Given the description of an element on the screen output the (x, y) to click on. 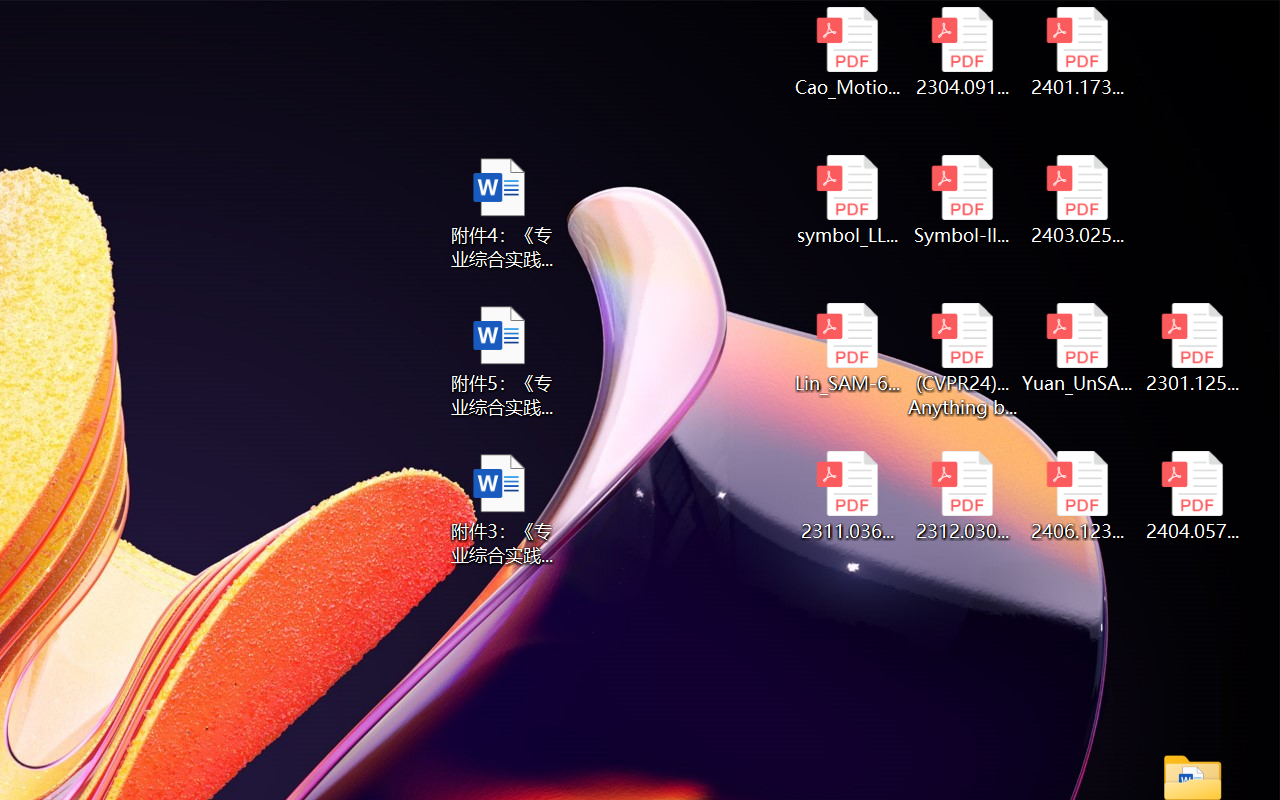
2312.03032v2.pdf (962, 496)
2403.02502v1.pdf (1077, 200)
